Given the description of an element on the screen output the (x, y) to click on. 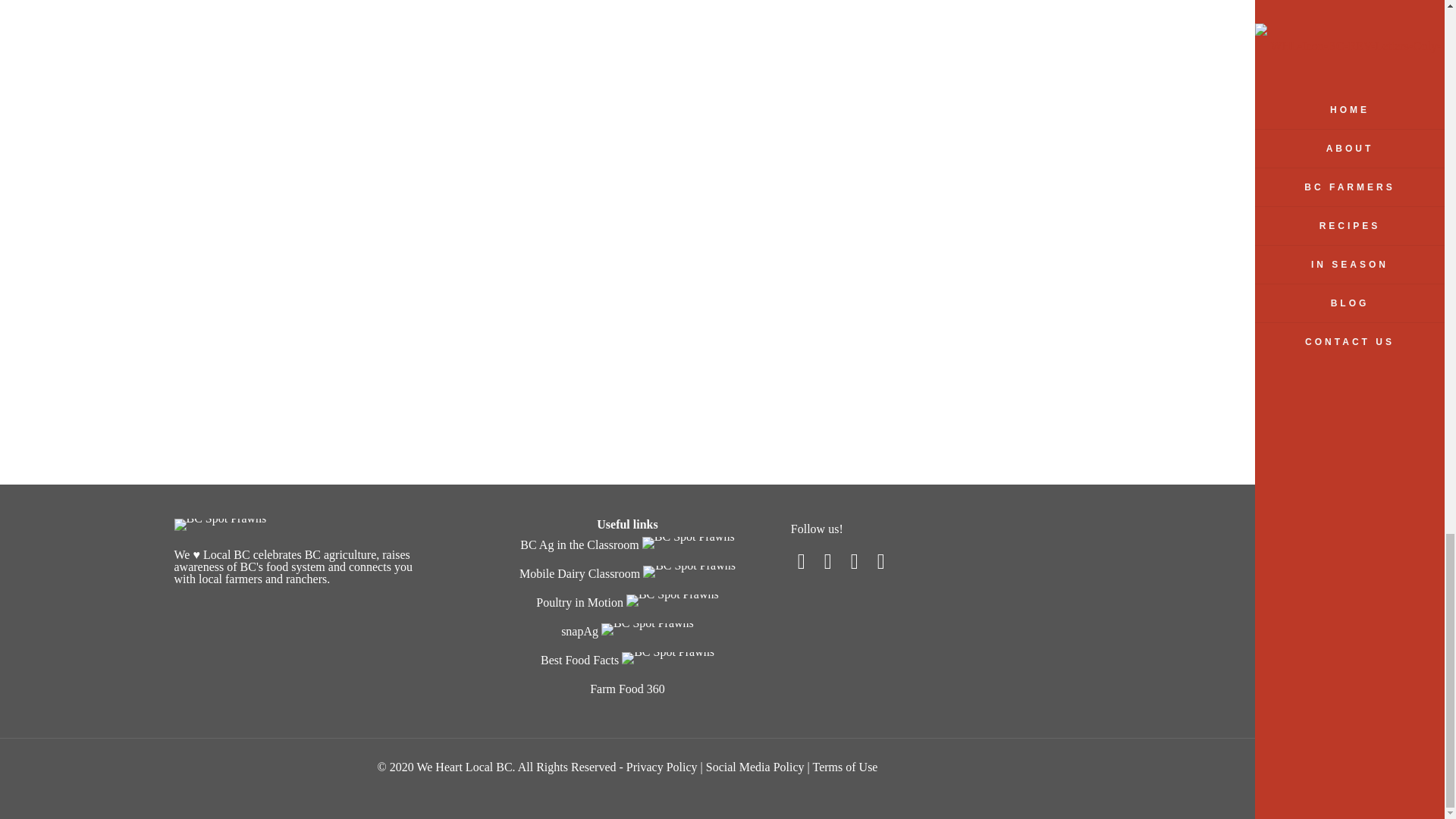
snapAg (579, 631)
Poultry in Motion (579, 602)
Thai Chicken Stir-Fry (1289, 317)
Mobile Dairy Classroom (579, 573)
Farm Food 360 (627, 688)
BC Ag in the Classroom (579, 544)
Best Food Facts (579, 659)
